Given the description of an element on the screen output the (x, y) to click on. 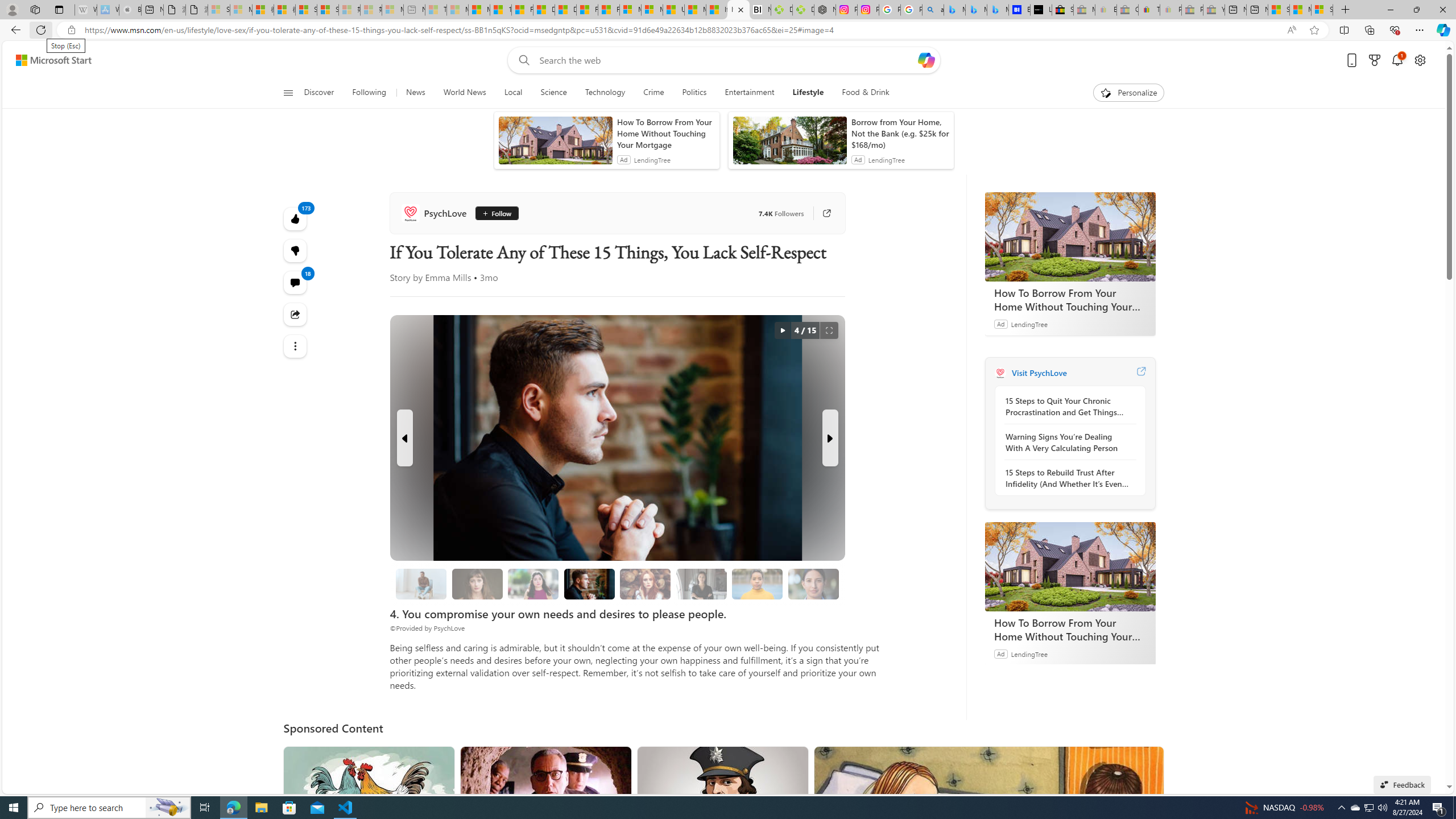
173 Like (295, 218)
PsychLove (1000, 372)
173 (295, 250)
Share this story (295, 314)
Class: at-item (295, 345)
